Given the description of an element on the screen output the (x, y) to click on. 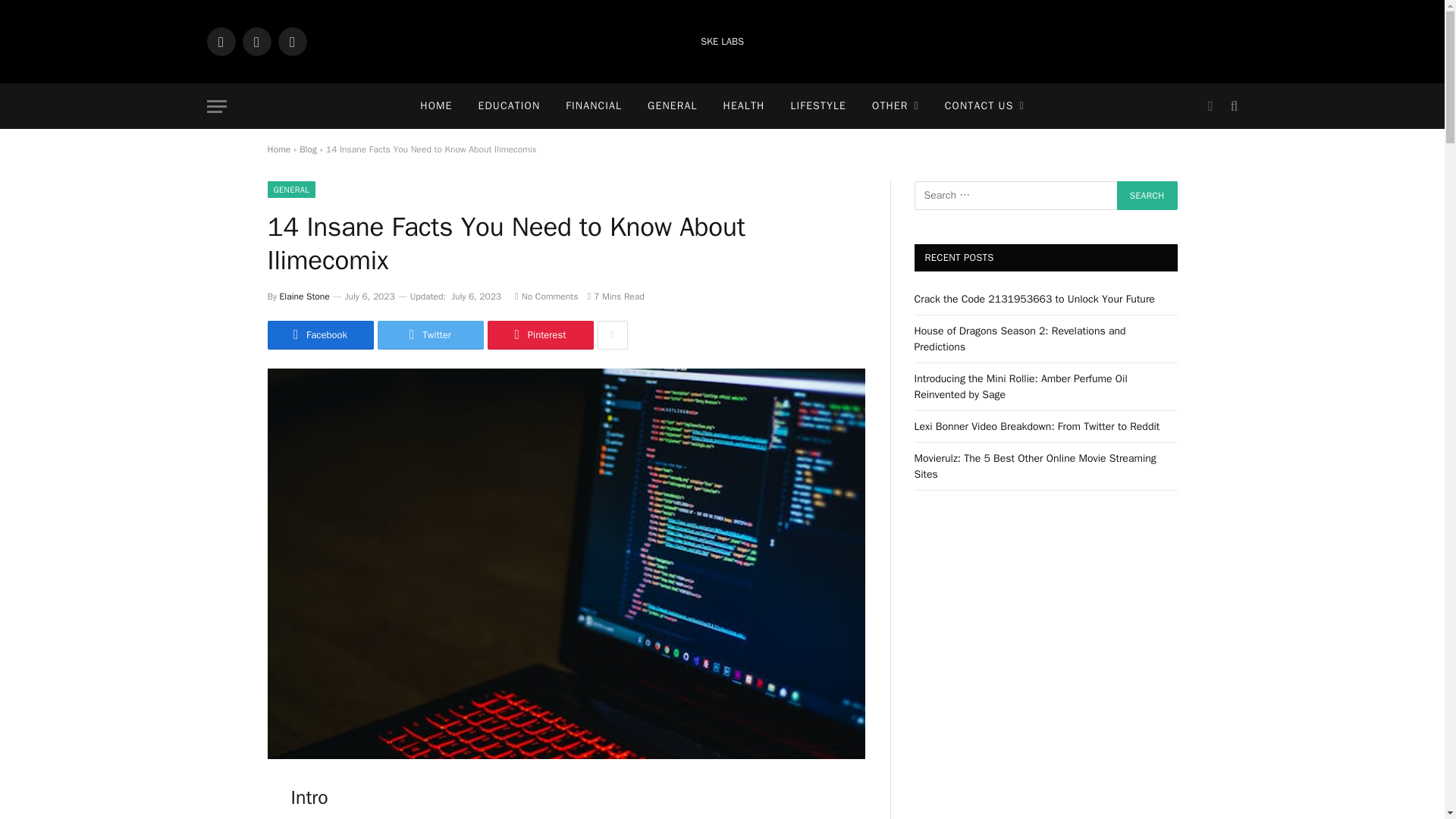
Switch to Dark Design - easier on eyes. (1209, 106)
Share on Facebook (319, 335)
Facebook (220, 41)
FINANCIAL (593, 105)
Elaine Stone (304, 296)
Search (1146, 194)
Search (1146, 194)
Home (277, 149)
Blog (308, 149)
Show More Social Sharing (611, 335)
